Given the description of an element on the screen output the (x, y) to click on. 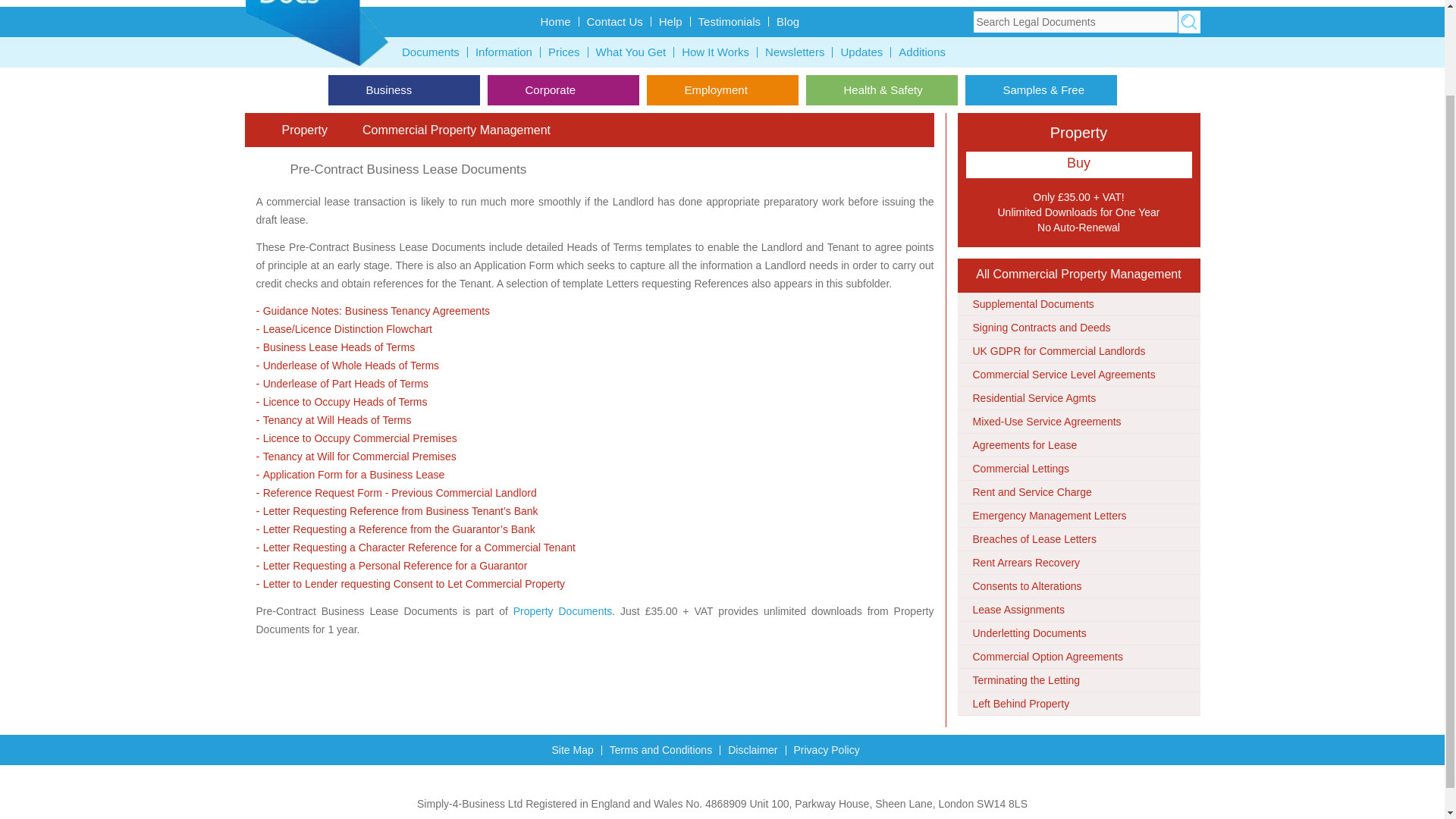
Home (555, 21)
Contact Us (614, 21)
Testimonials (730, 21)
Blog (787, 21)
Help (670, 21)
Documents (430, 51)
